Given the description of an element on the screen output the (x, y) to click on. 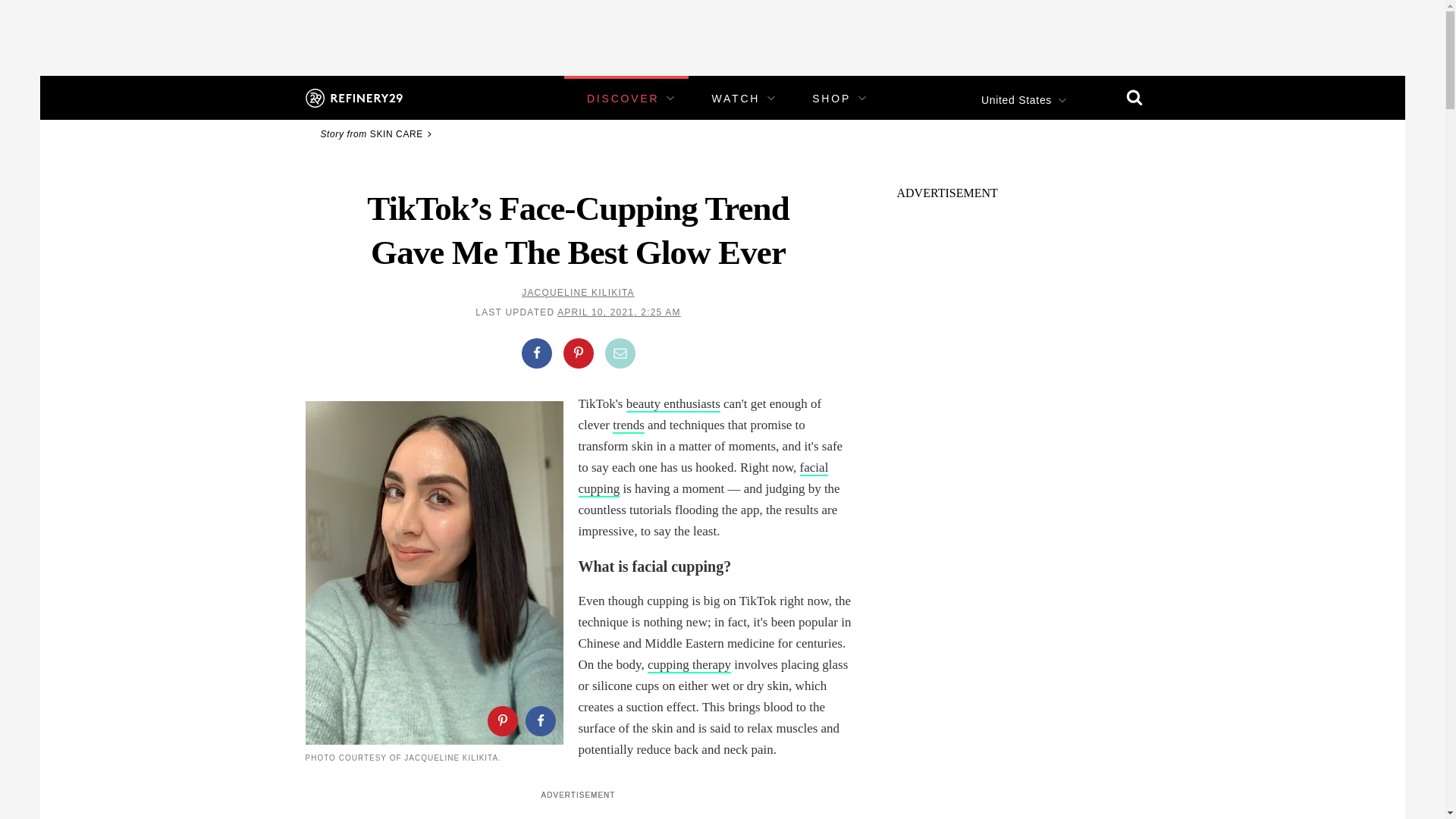
JACQUELINE KILIKITA (577, 292)
beauty enthusiasts (673, 404)
SHOP (831, 98)
Share on Pinterest (501, 720)
Share on Pinterest (577, 353)
DISCOVER (622, 98)
Share on Facebook (536, 353)
facial cupping (703, 478)
trends (628, 425)
APRIL 10, 2021, 2:25 AM (619, 312)
Share on Facebook (539, 720)
WATCH (735, 98)
Share by Email (619, 353)
cupping therapy (688, 665)
Refinery29 (352, 97)
